Given the description of an element on the screen output the (x, y) to click on. 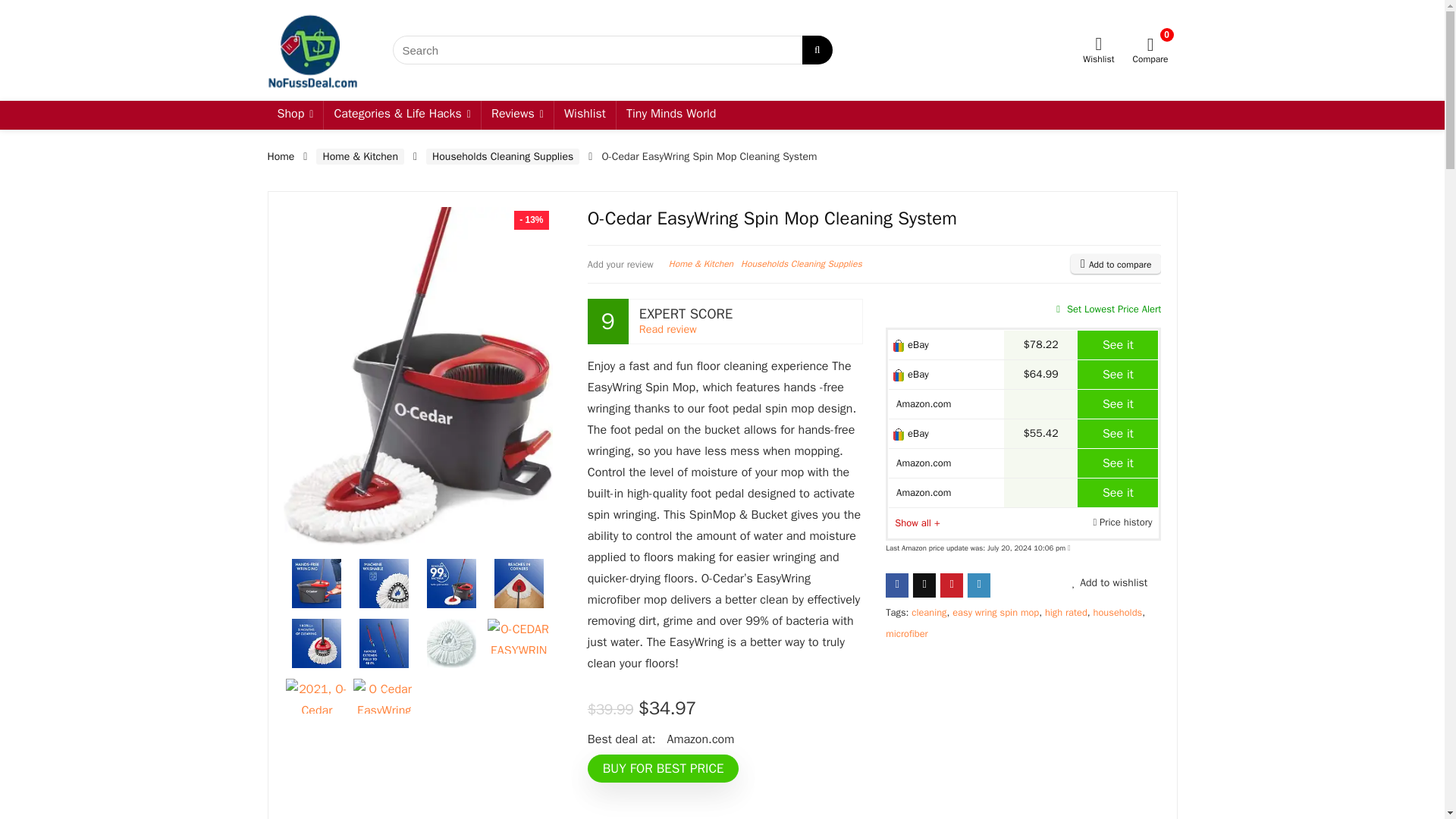
Read review (668, 328)
View all posts in Households Cleaning Supplies (801, 263)
Shop (294, 114)
Add your review (620, 264)
